Given the description of an element on the screen output the (x, y) to click on. 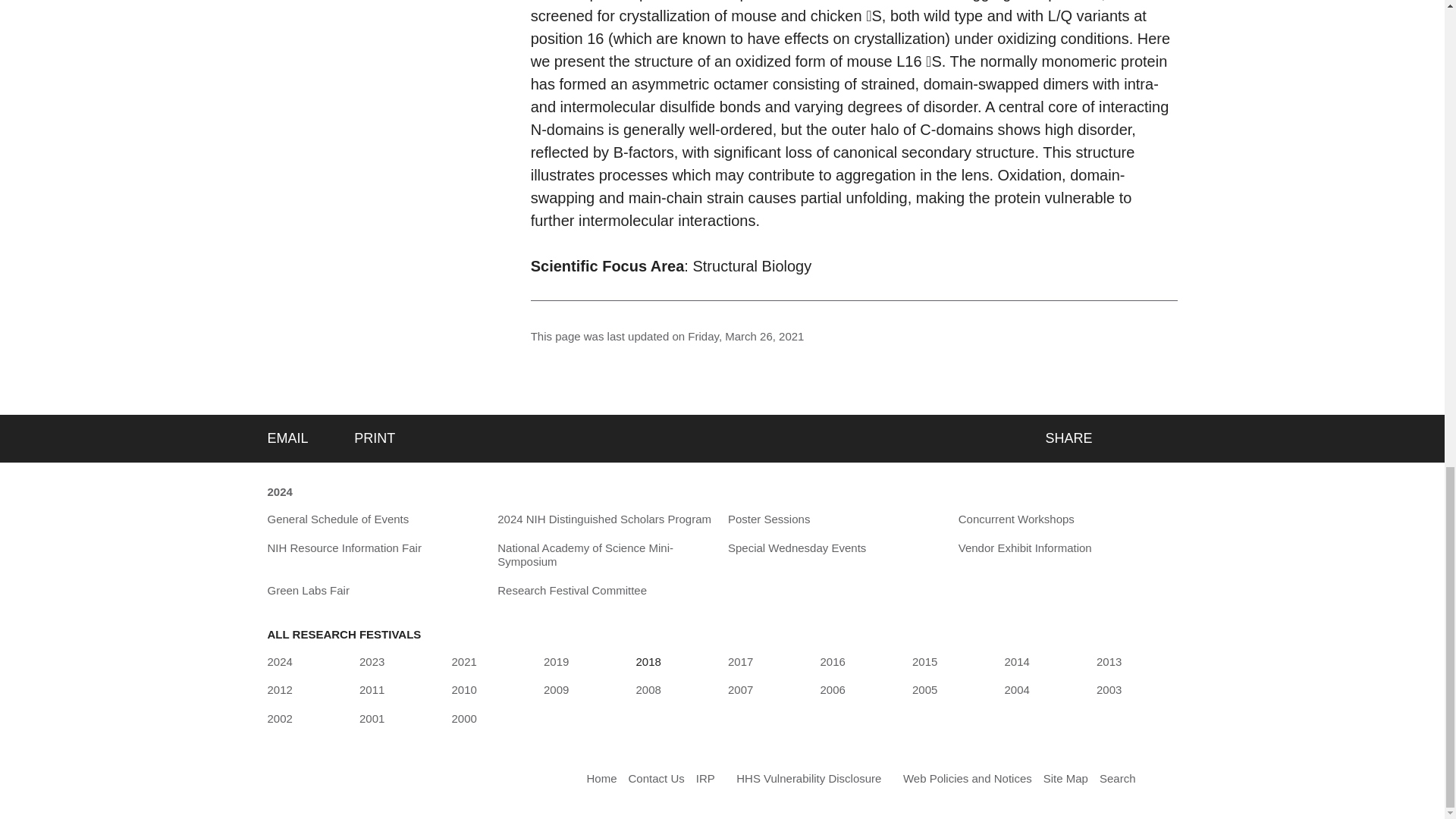
Special Wednesday Events (797, 548)
2024 NIH Research Festival (279, 492)
2024 NIH Research Festival (279, 661)
National Academy of Science Mini-Symposium  (606, 554)
2024 NIH Distinguished Scholars Program (604, 519)
Concurrent Workshops (1016, 519)
